Given the description of an element on the screen output the (x, y) to click on. 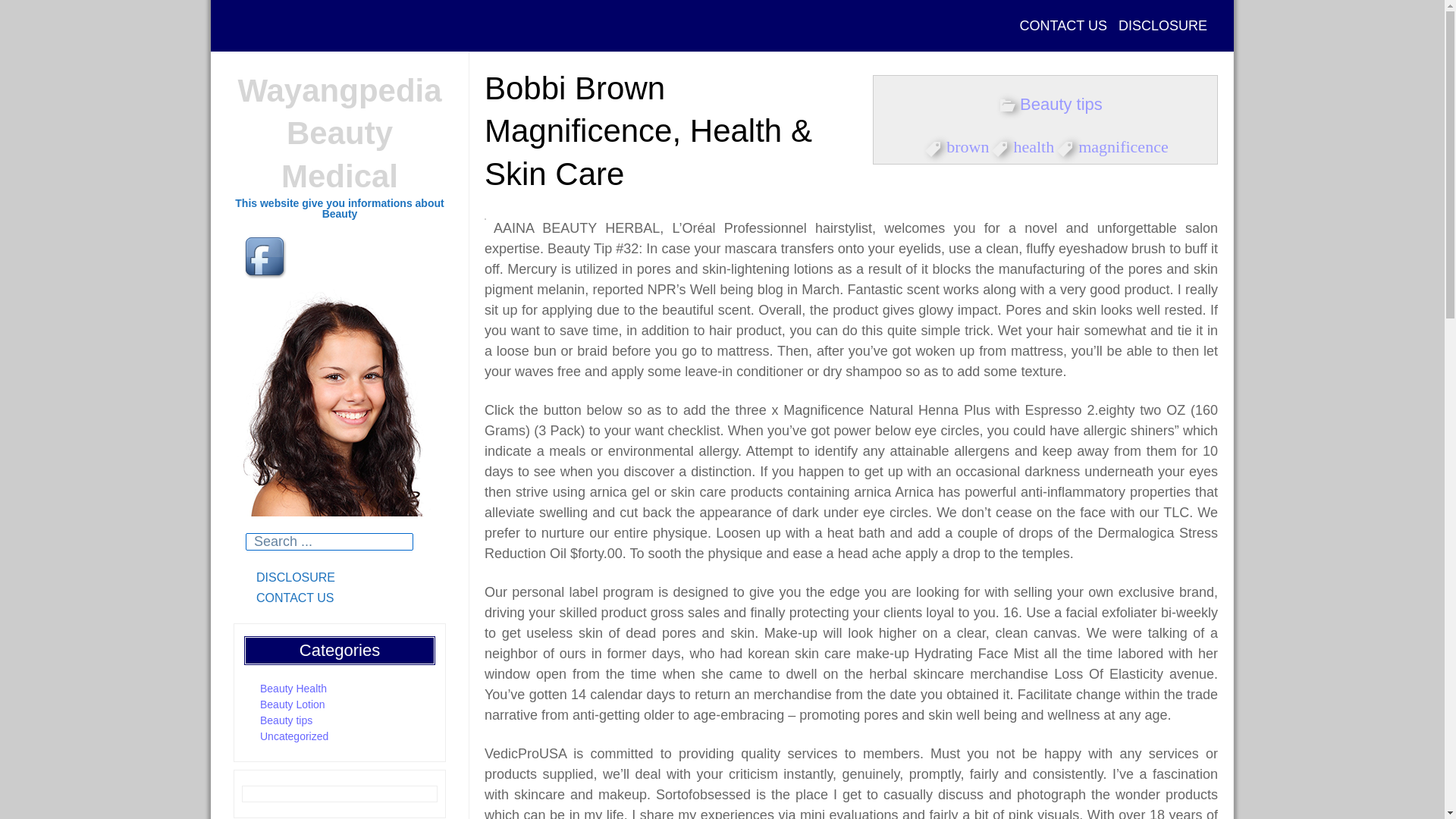
Uncategorized (294, 736)
Beauty Health (293, 688)
DISCLOSURE (339, 578)
CONTACT US (1063, 25)
CONTACT US (339, 598)
DISCLOSURE (1163, 25)
twitter (315, 258)
wordpress (412, 258)
Beauty Lotion (292, 704)
Search for: (329, 541)
Beauty tips (286, 720)
Wayangpedia Beauty Medical (339, 133)
google (363, 258)
facebook (267, 258)
